Given the description of an element on the screen output the (x, y) to click on. 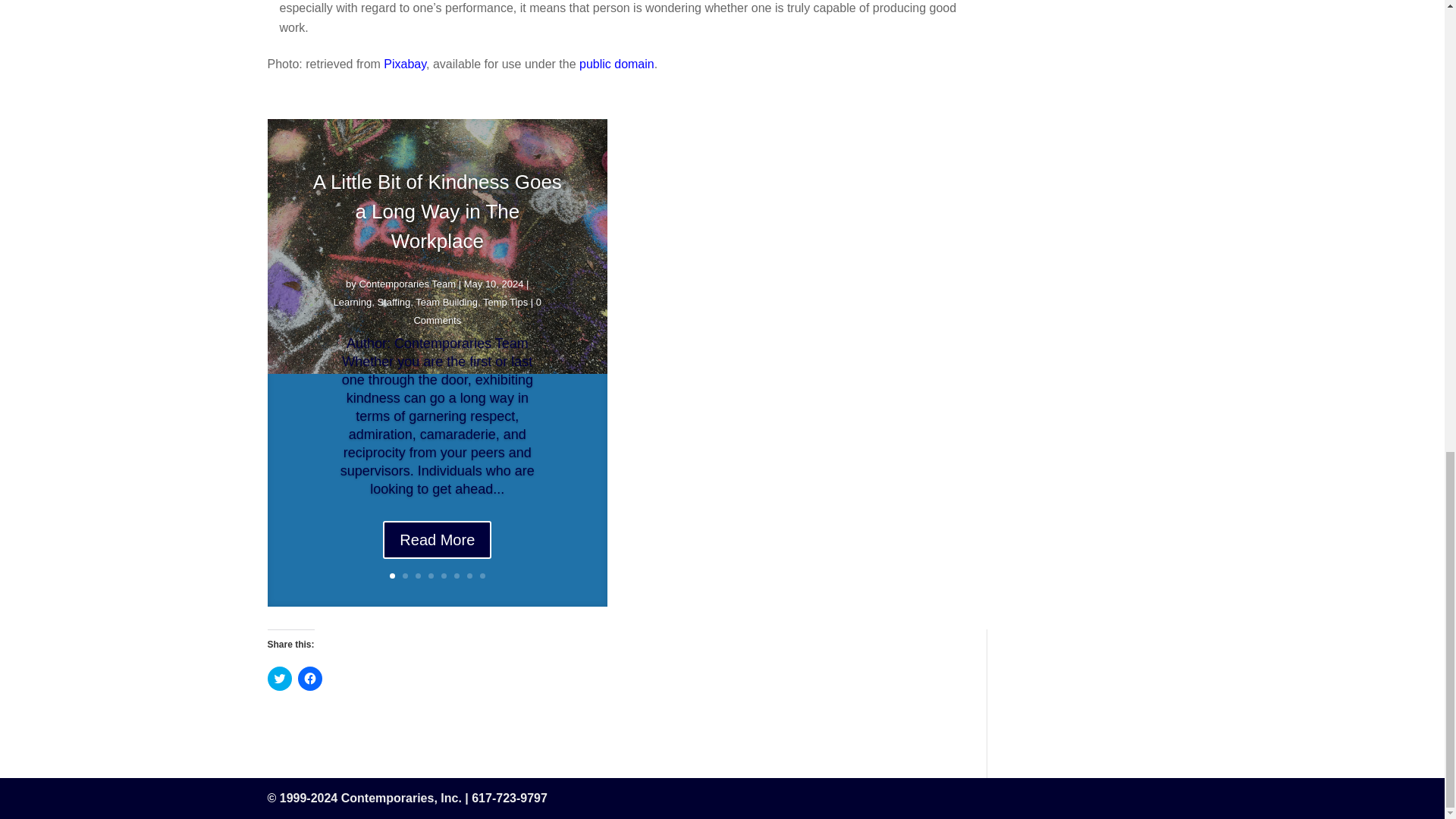
Posts by Contemporaries Team (406, 296)
Click to share on Twitter (278, 678)
Click to share on Facebook (309, 678)
